Given the description of an element on the screen output the (x, y) to click on. 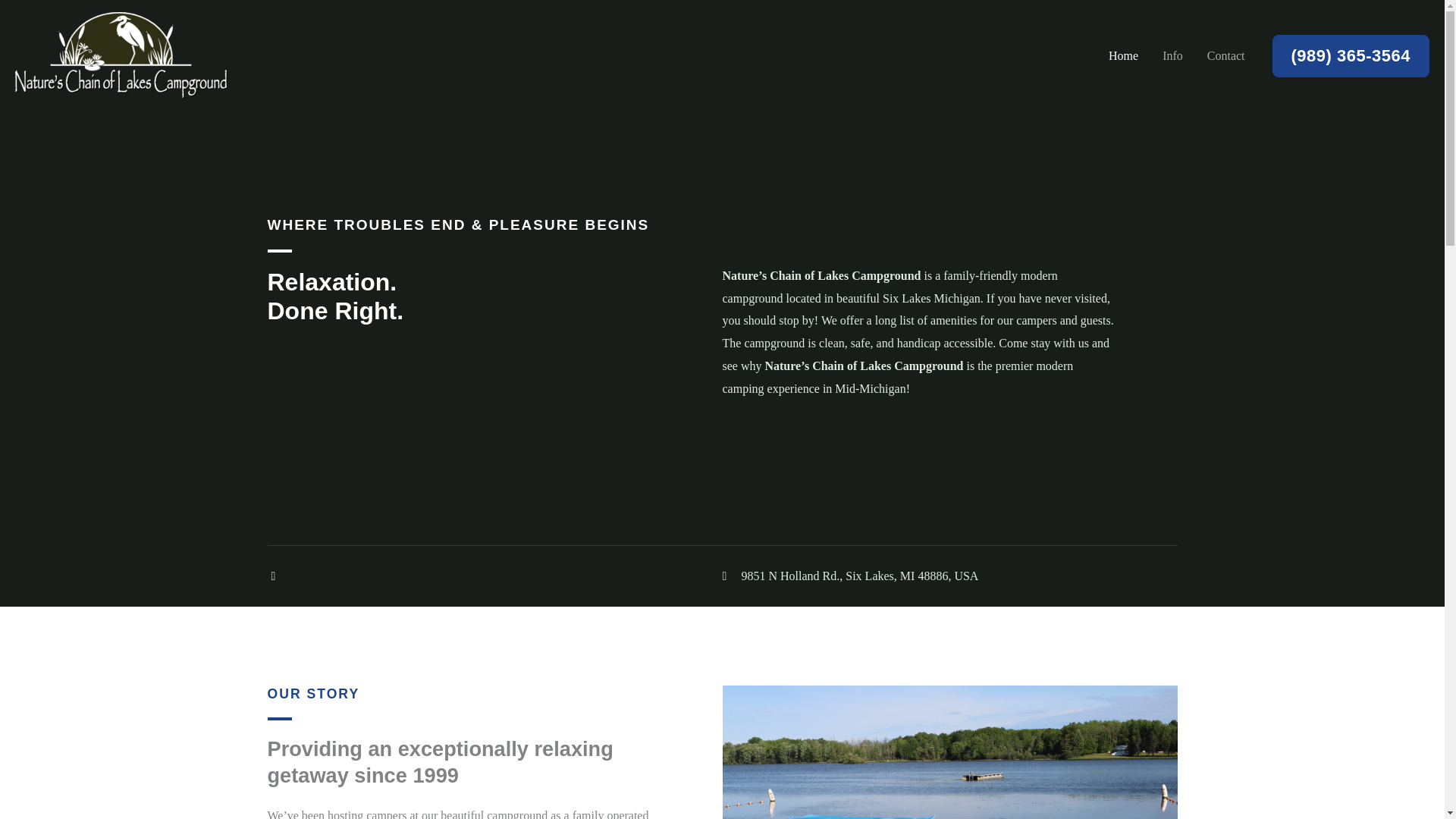
Home (1123, 54)
9851 N Holland Rd., Six Lakes, MI 48886, USA (949, 576)
Contact (1226, 54)
